Given the description of an element on the screen output the (x, y) to click on. 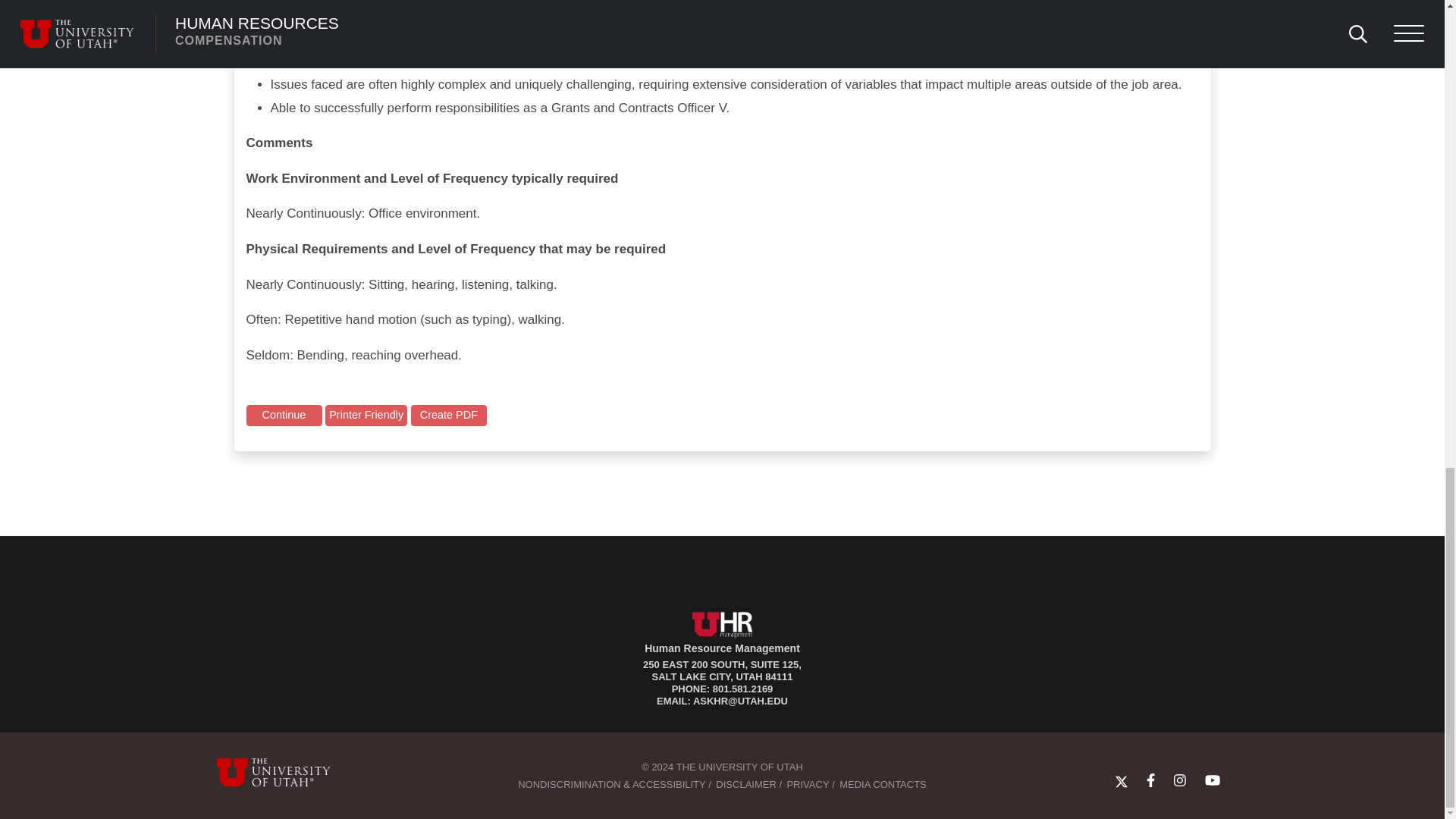
University of Utah (284, 772)
